Given the description of an element on the screen output the (x, y) to click on. 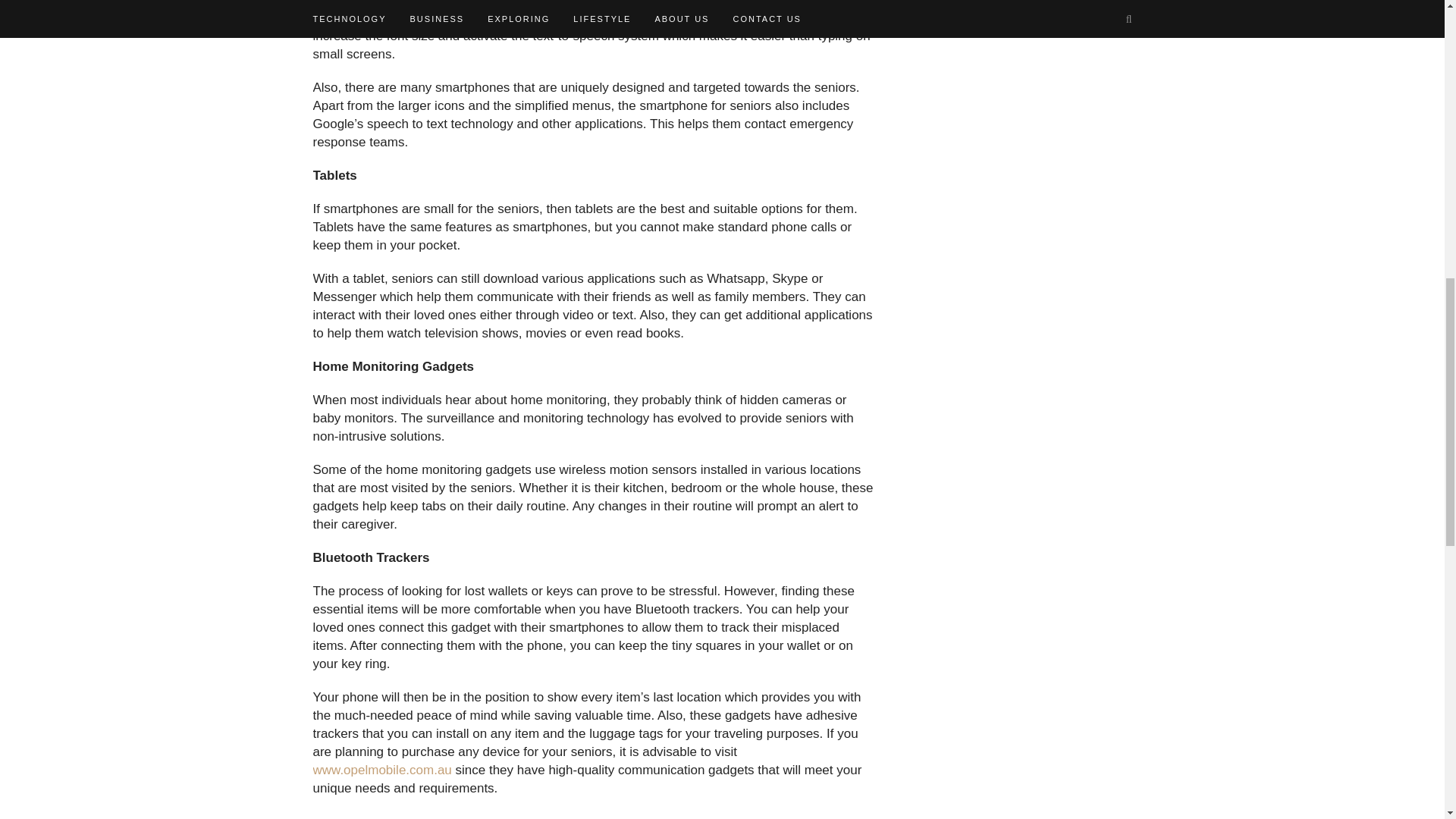
www.opelmobile.com.au (382, 769)
